Given the description of an element on the screen output the (x, y) to click on. 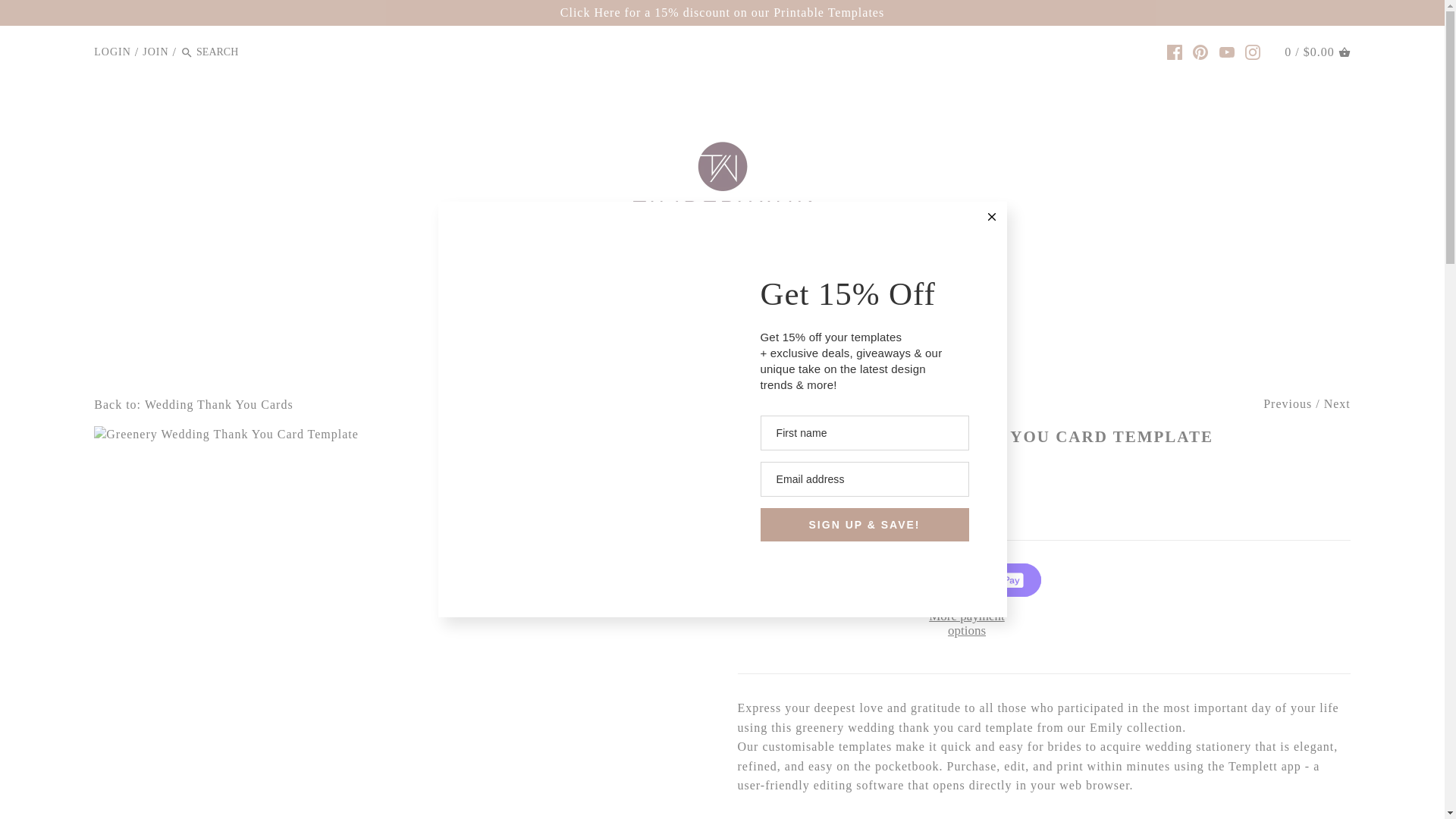
FACEBOOK (1174, 51)
Facebook (1174, 51)
INSTAGRAM (1252, 51)
Youtube (1227, 51)
PINTEREST (1200, 52)
Search (186, 52)
SHOP DIY TEMPLATES (747, 337)
INSTAGRAM (1252, 52)
ABOUT (481, 337)
Pin the main image (832, 506)
CART (1344, 51)
Instagram (1252, 51)
Share on Facebook (791, 506)
FACEBOOK (1174, 52)
